Given the description of an element on the screen output the (x, y) to click on. 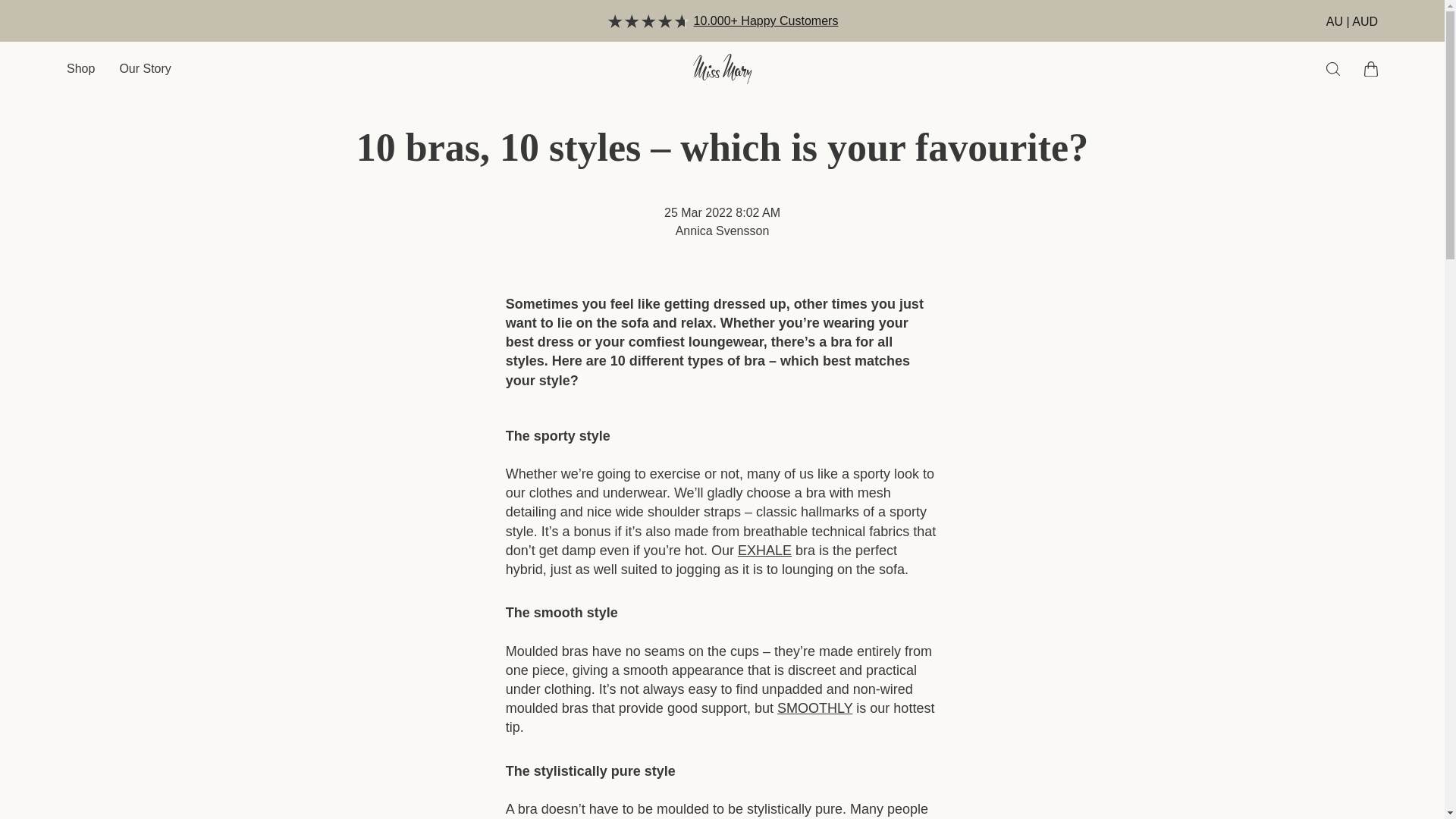
SMOOTHLY (814, 708)
Miss Mary (722, 69)
EXHALE (765, 549)
Our Story (144, 68)
Open cart (1370, 69)
Search (1332, 69)
